Given the description of an element on the screen output the (x, y) to click on. 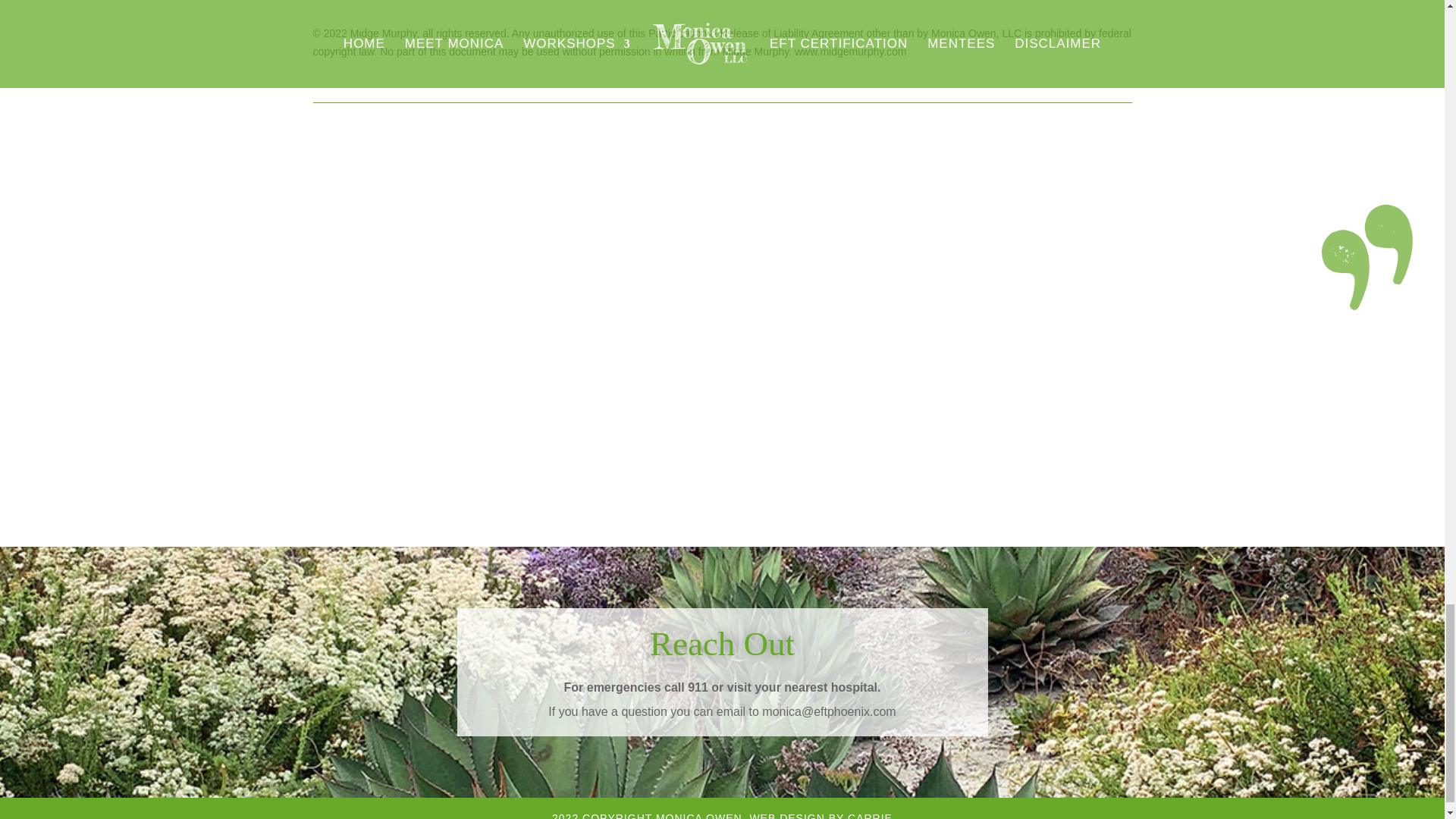
WEB DESIGN BY CARRIE (820, 815)
